Given the description of an element on the screen output the (x, y) to click on. 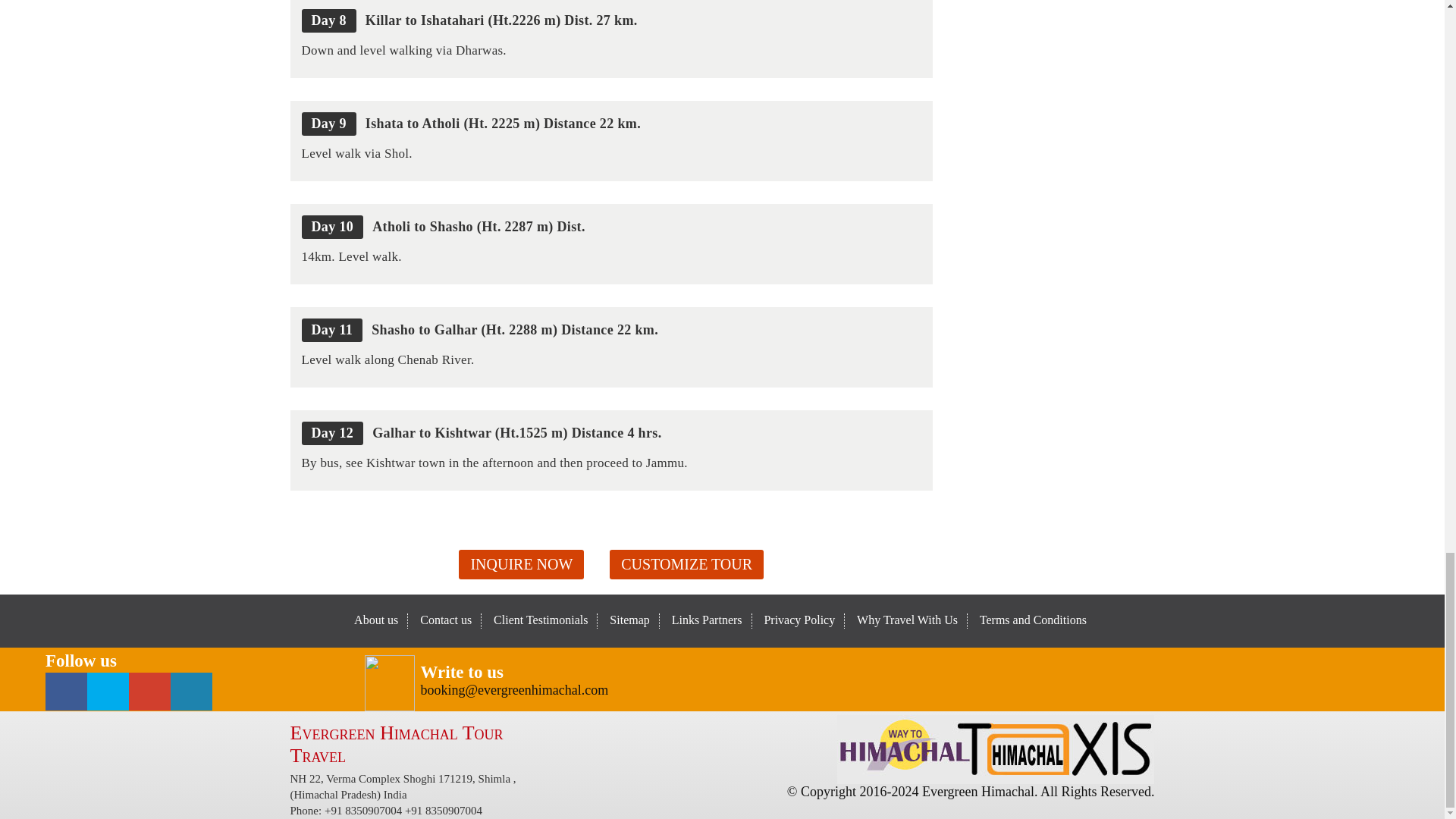
Terms and Conditions (1032, 619)
Why Travel With Us (907, 619)
CUSTOMIZE TOUR (686, 564)
Contact us (445, 619)
INQUIRE NOW (520, 564)
Client Testimonials (540, 619)
Sitemap (629, 619)
Links Partners (706, 619)
About us (375, 619)
Privacy Policy (798, 619)
